Given the description of an element on the screen output the (x, y) to click on. 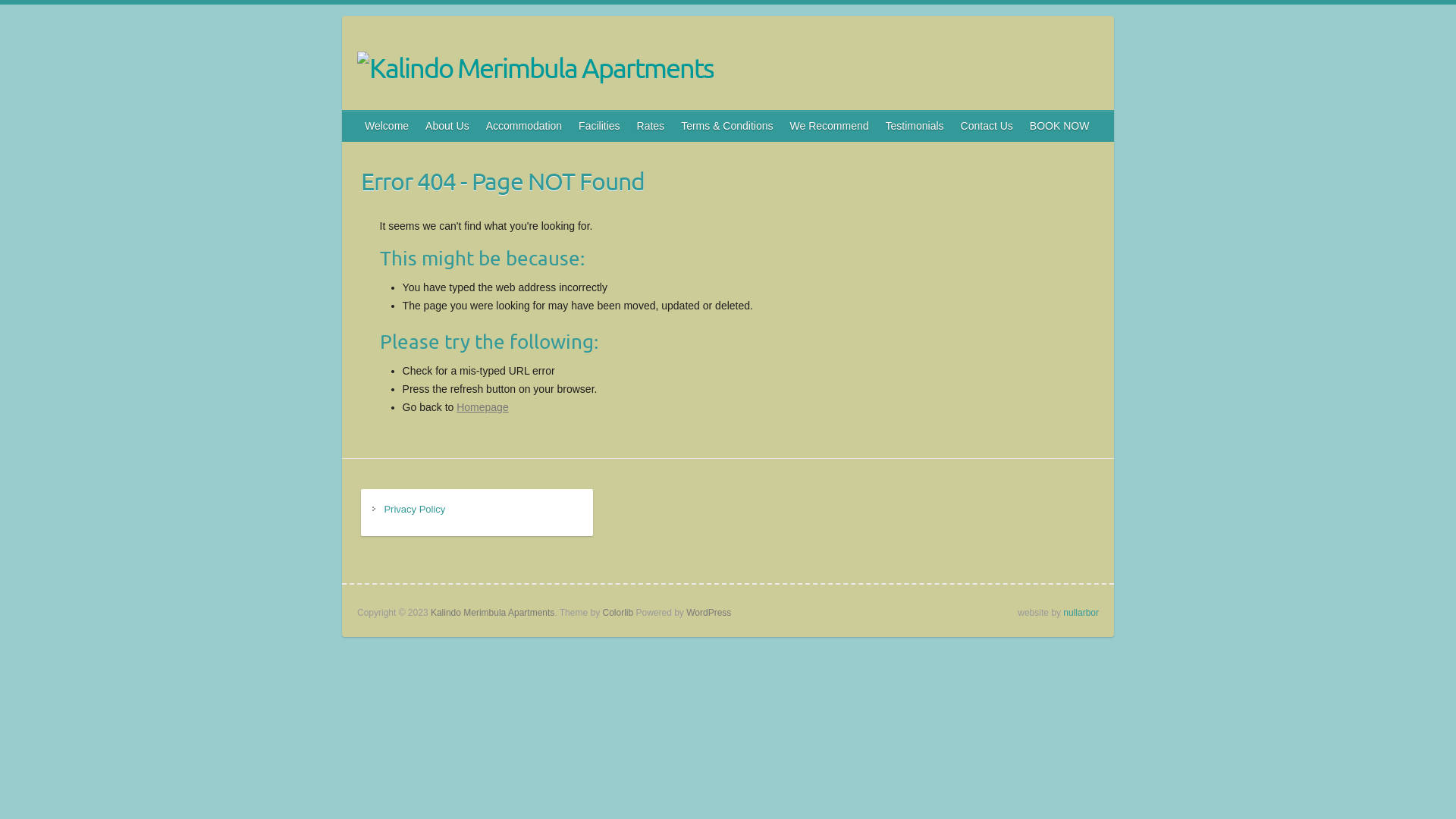
BOOK NOW Element type: text (1060, 125)
Privacy Policy Element type: text (414, 508)
Rates Element type: text (651, 125)
Facilities Element type: text (599, 125)
We Recommend Element type: text (830, 125)
About Us Element type: text (447, 125)
Welcome Element type: text (387, 125)
WordPress Element type: text (708, 612)
Accommodation Element type: text (524, 125)
Kalindo Merimbula Apartments Element type: text (492, 612)
Contact Us Element type: text (987, 125)
Terms & Conditions Element type: text (727, 125)
Colorlib Element type: text (617, 612)
Testimonials Element type: text (915, 125)
Homepage Element type: text (482, 407)
nullarbor Element type: text (1080, 612)
Kalindo Merimbula Apartments Element type: hover (535, 67)
